Given the description of an element on the screen output the (x, y) to click on. 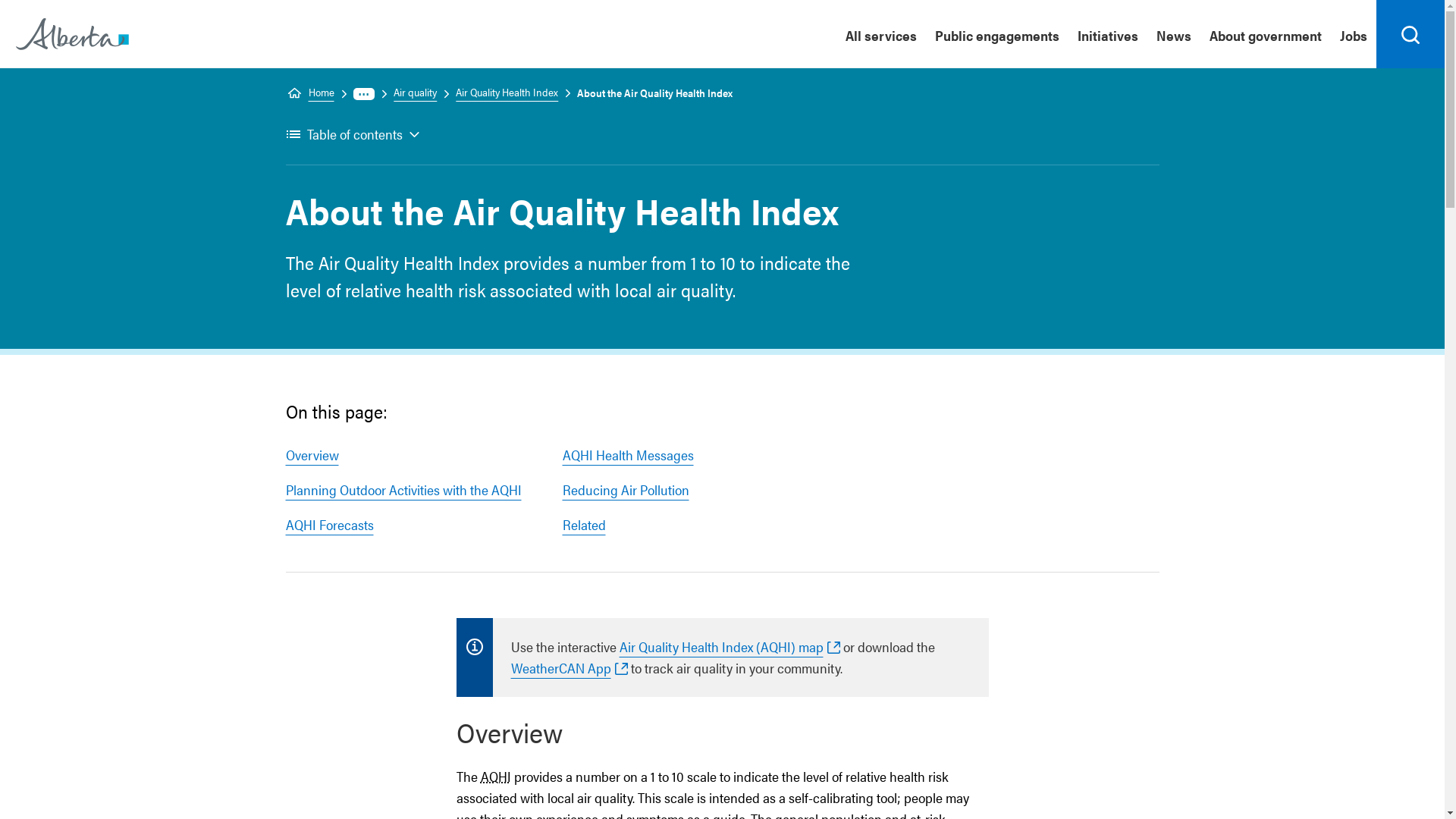
Planning Outdoor Activities with the AQHI Element type: text (402, 489)
Air quality Element type: text (407, 92)
Initiatives Element type: text (1107, 34)
Search Element type: text (1410, 34)
WeatherCAN App Element type: text (569, 667)
AQHI Health Messages Element type: text (627, 454)
News Element type: text (1173, 34)
Home Element type: hover (72, 33)
Table of contents Element type: text (352, 134)
Air Quality Health Index Element type: text (500, 92)
AQHI Forecasts Element type: text (329, 523)
Reducing Air Pollution Element type: text (625, 489)
All services Element type: text (880, 34)
Public engagements Element type: text (996, 34)
About government Element type: text (1265, 34)
Related Element type: text (583, 523)
Overview Element type: text (311, 454)
Jobs Element type: text (1353, 34)
Air Quality Health Index (AQHI) map Element type: text (728, 646)
Home Element type: text (309, 92)
